Given the description of an element on the screen output the (x, y) to click on. 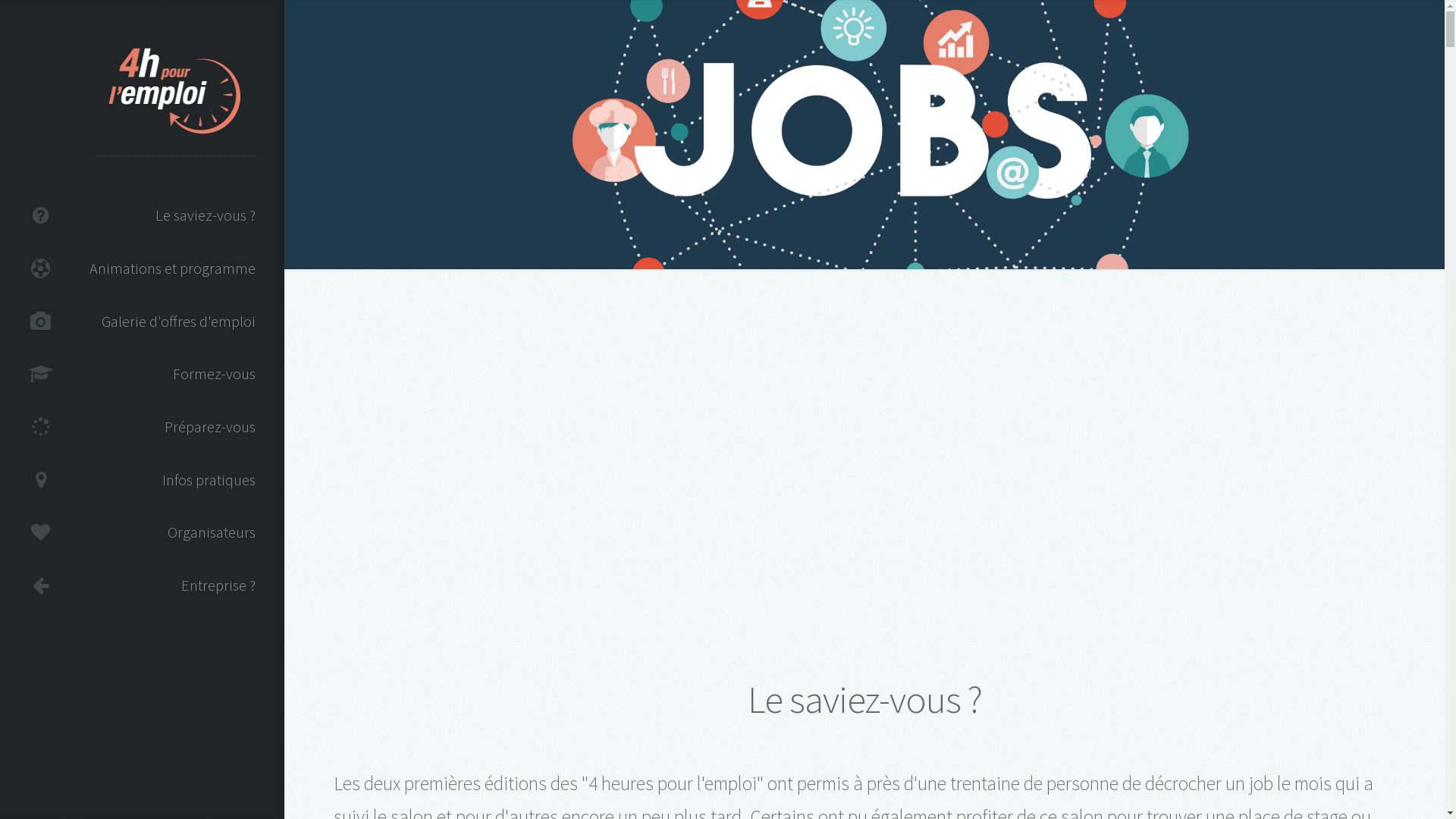
Le saviez-vous ? Element type: text (142, 215)
Formez-vous Element type: text (142, 374)
Infos pratiques Element type: text (142, 479)
Organisateurs Element type: text (142, 532)
Galerie d'offres d'emploi Element type: text (142, 321)
Entreprise ? Element type: text (142, 584)
Animations et programme Element type: text (142, 267)
